Given the description of an element on the screen output the (x, y) to click on. 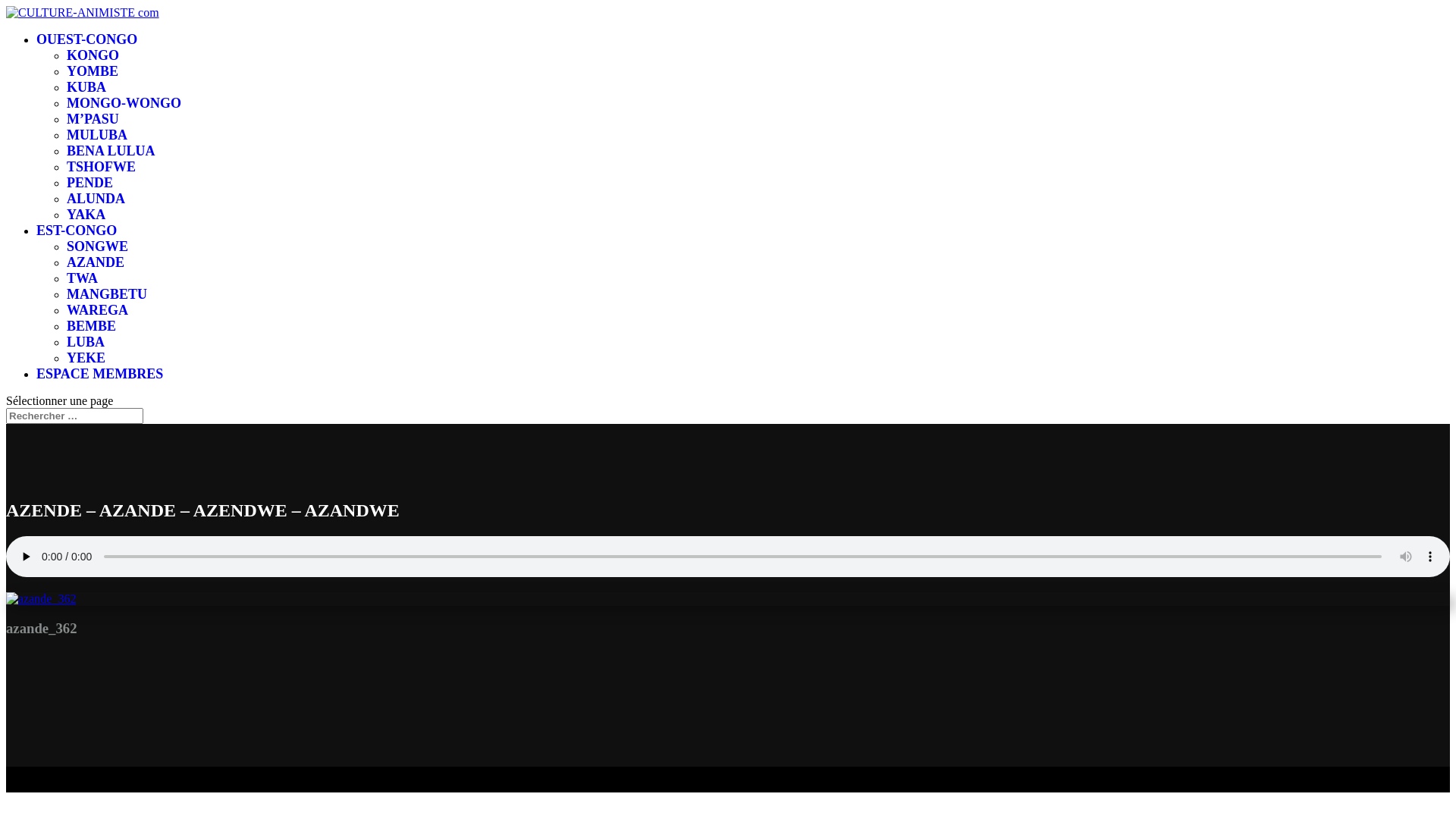
TSHOFWE Element type: text (100, 166)
MULUBA Element type: text (96, 134)
TWA Element type: text (81, 277)
YEKE Element type: text (85, 357)
YOMBE Element type: text (92, 70)
AZANDE Element type: text (95, 261)
BEMBE Element type: text (91, 325)
MANGBETU Element type: text (106, 293)
ALUNDA Element type: text (95, 198)
KONGO Element type: text (92, 54)
EST-CONGO Element type: text (76, 230)
azande_362 Element type: hover (40, 598)
YAKA Element type: text (85, 214)
OUEST-CONGO Element type: text (86, 39)
KUBA Element type: text (86, 86)
PENDE Element type: text (89, 182)
ESPACE MEMBRES Element type: text (99, 373)
WAREGA Element type: text (97, 309)
BENA LULUA Element type: text (110, 150)
LUBA Element type: text (85, 341)
SONGWE Element type: text (97, 246)
MONGO-WONGO Element type: text (123, 102)
Rechercher: Element type: hover (74, 415)
